Given the description of an element on the screen output the (x, y) to click on. 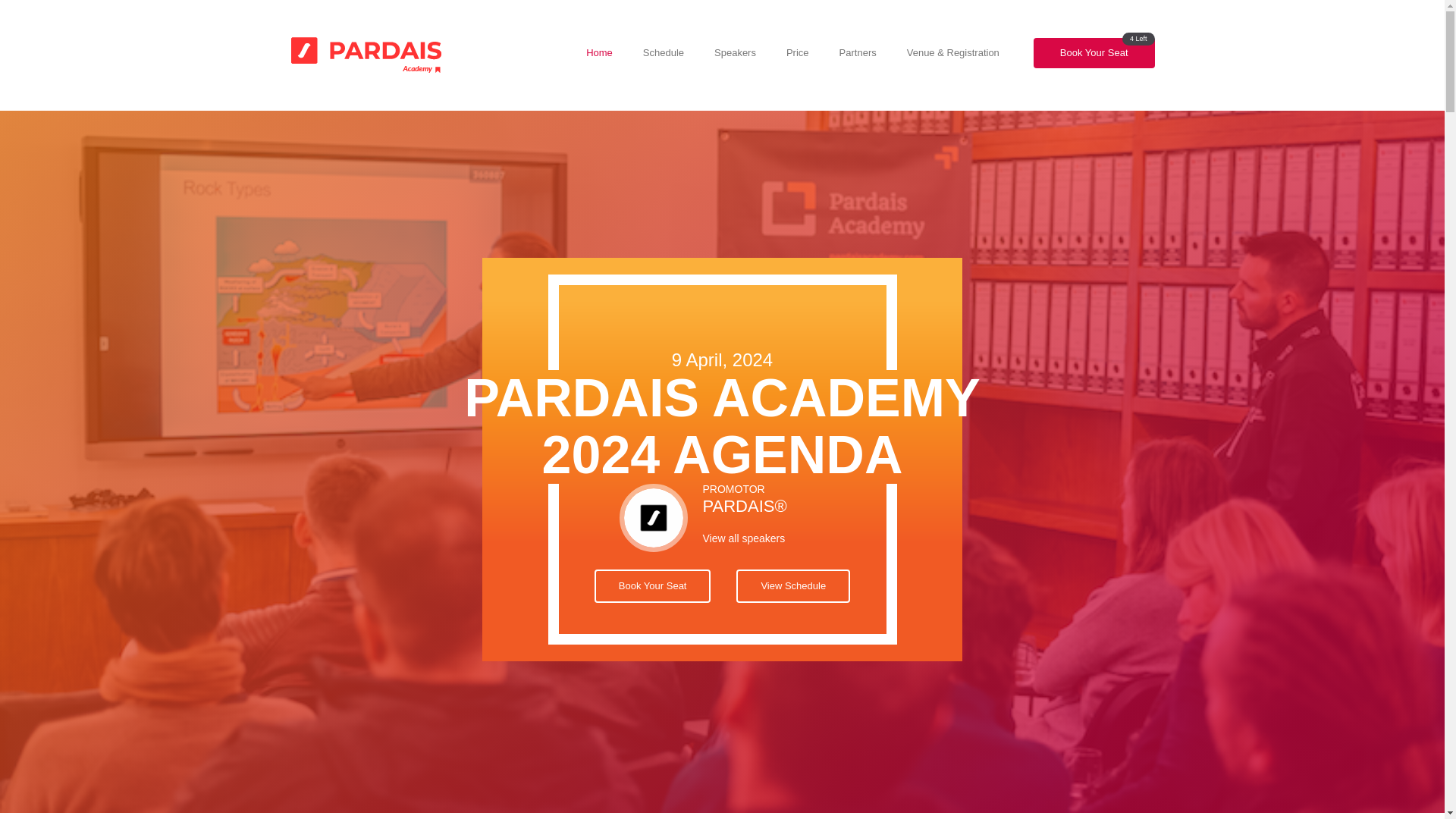
View all speakers (763, 538)
Partners (858, 52)
View Schedule (793, 585)
Schedule (663, 52)
Home (599, 52)
Book Your Seat (652, 585)
Speakers (735, 52)
Price (797, 52)
